Given the description of an element on the screen output the (x, y) to click on. 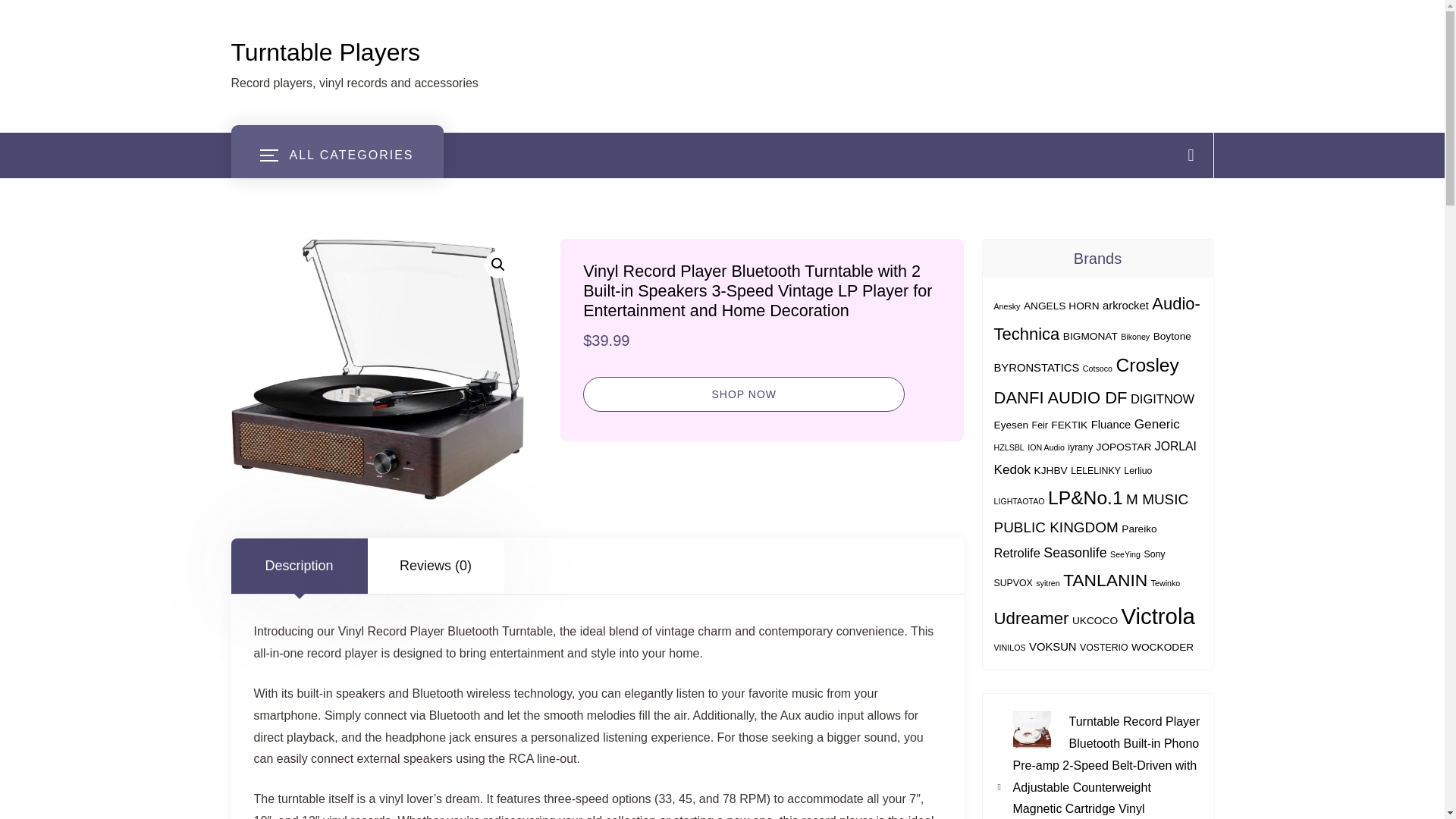
Description (298, 565)
SHOP NOW (743, 393)
Turntable Players (325, 52)
ALL CATEGORIES (336, 155)
